Given the description of an element on the screen output the (x, y) to click on. 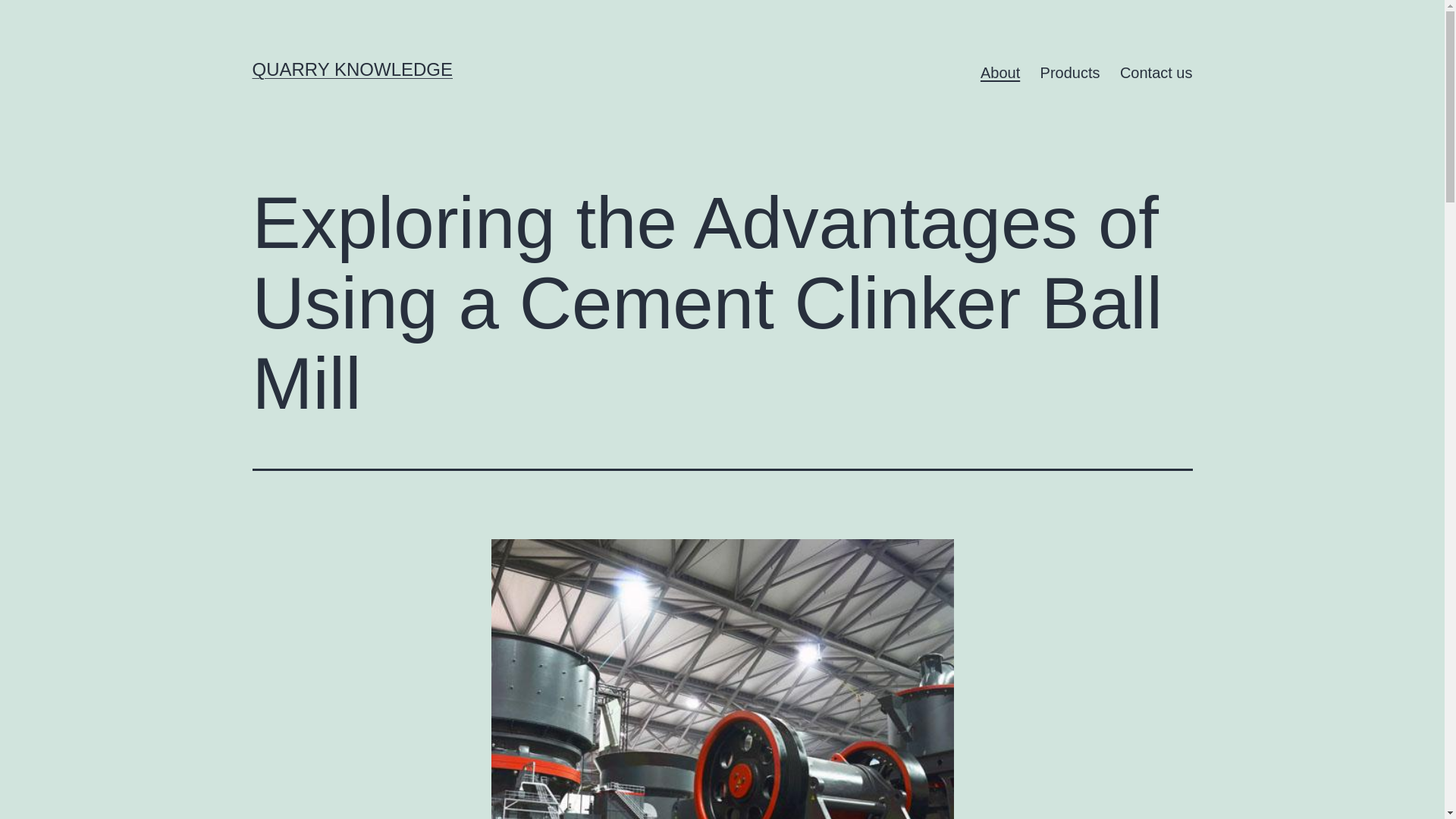
QUARRY KNOWLEDGE (351, 68)
About (1000, 72)
Contact us (1155, 72)
Products (1069, 72)
